Given the description of an element on the screen output the (x, y) to click on. 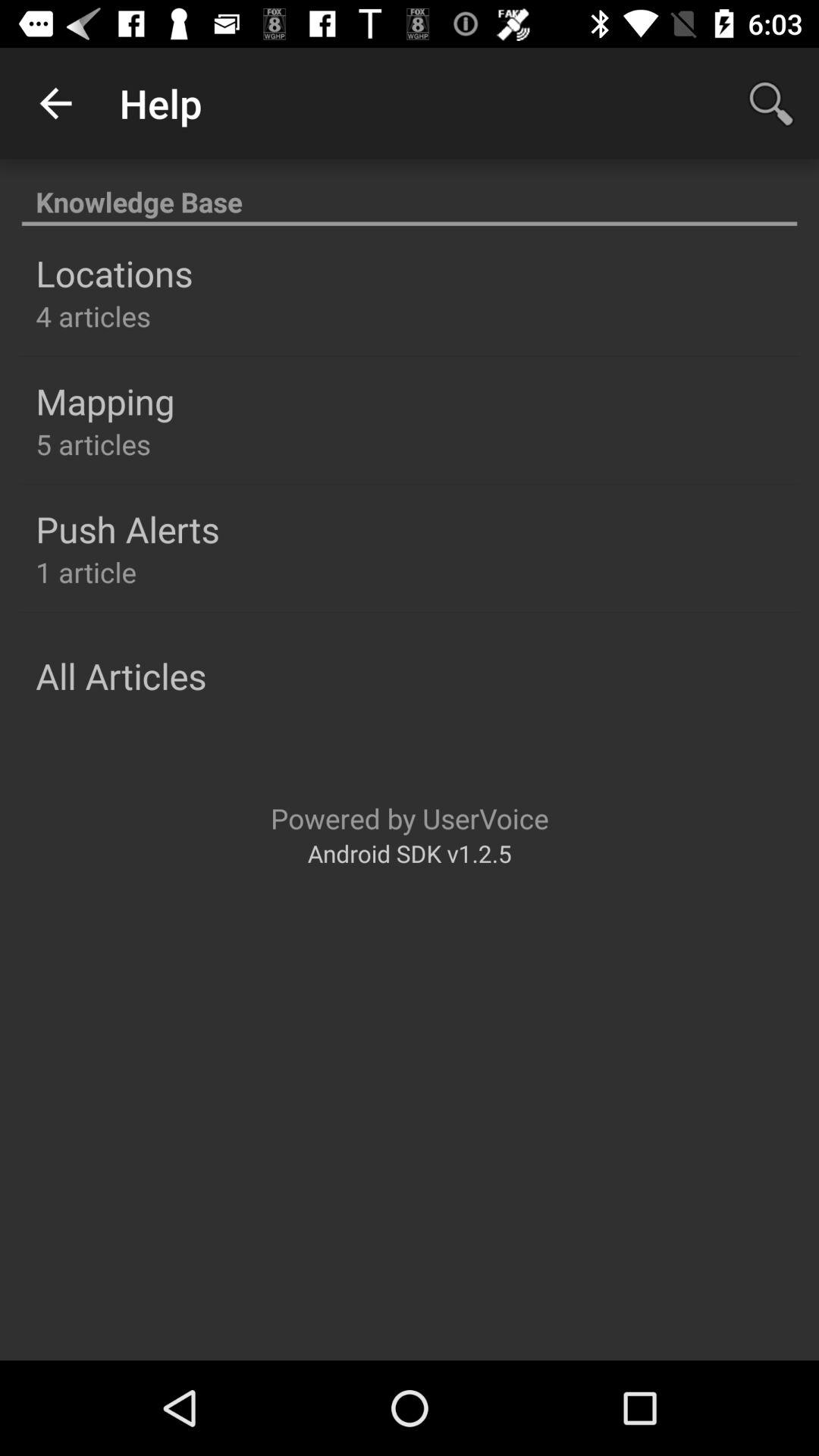
launch android sdk v1 (409, 853)
